Given the description of an element on the screen output the (x, y) to click on. 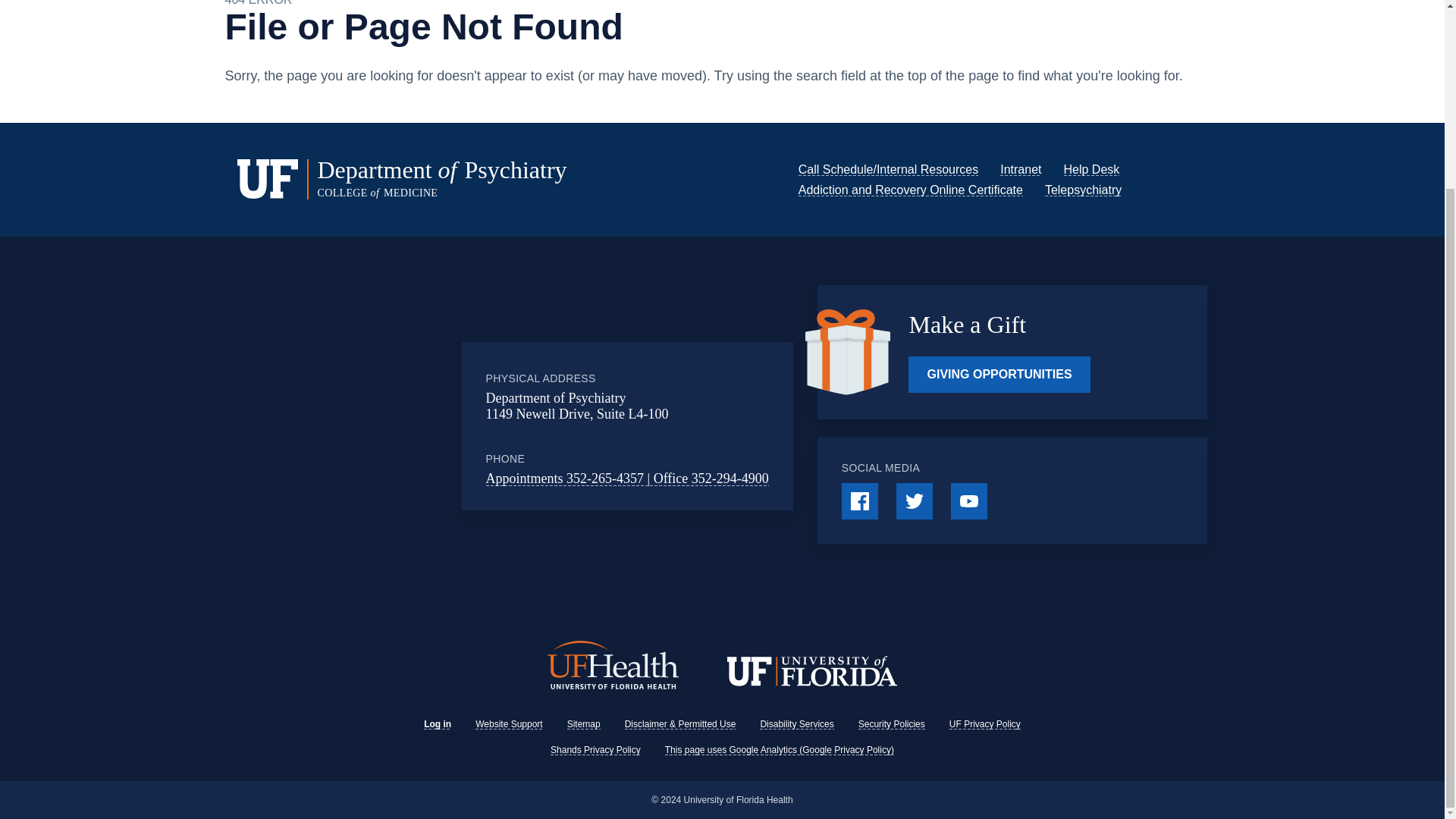
UF Privacy Policy (984, 724)
Addiction and Recovery Online Certificate (910, 189)
Google Maps Embed (396, 425)
Shands Privacy Policy (595, 749)
Sitemap (583, 724)
Disability Services (796, 724)
Website Support (509, 724)
Log in (437, 724)
Telepsychiatry (1083, 189)
Intranet (1020, 169)
